Given the description of an element on the screen output the (x, y) to click on. 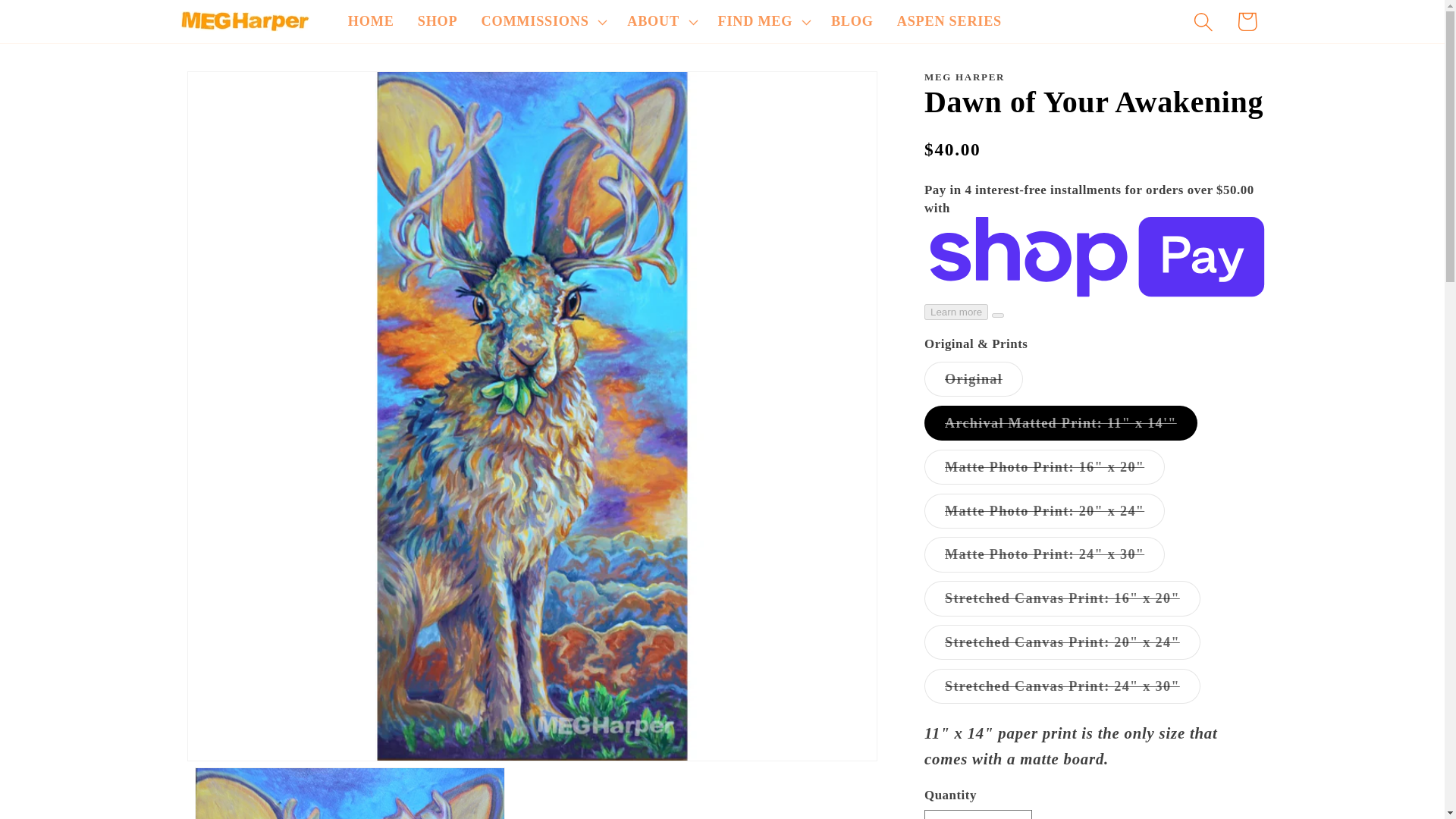
SKIP TO PRODUCT INFORMATION (238, 93)
HOME (371, 21)
SHOP (437, 21)
BLOG (851, 21)
Cart (1246, 21)
ASPEN SERIES (949, 21)
SKIP TO CONTENT (59, 22)
